Given the description of an element on the screen output the (x, y) to click on. 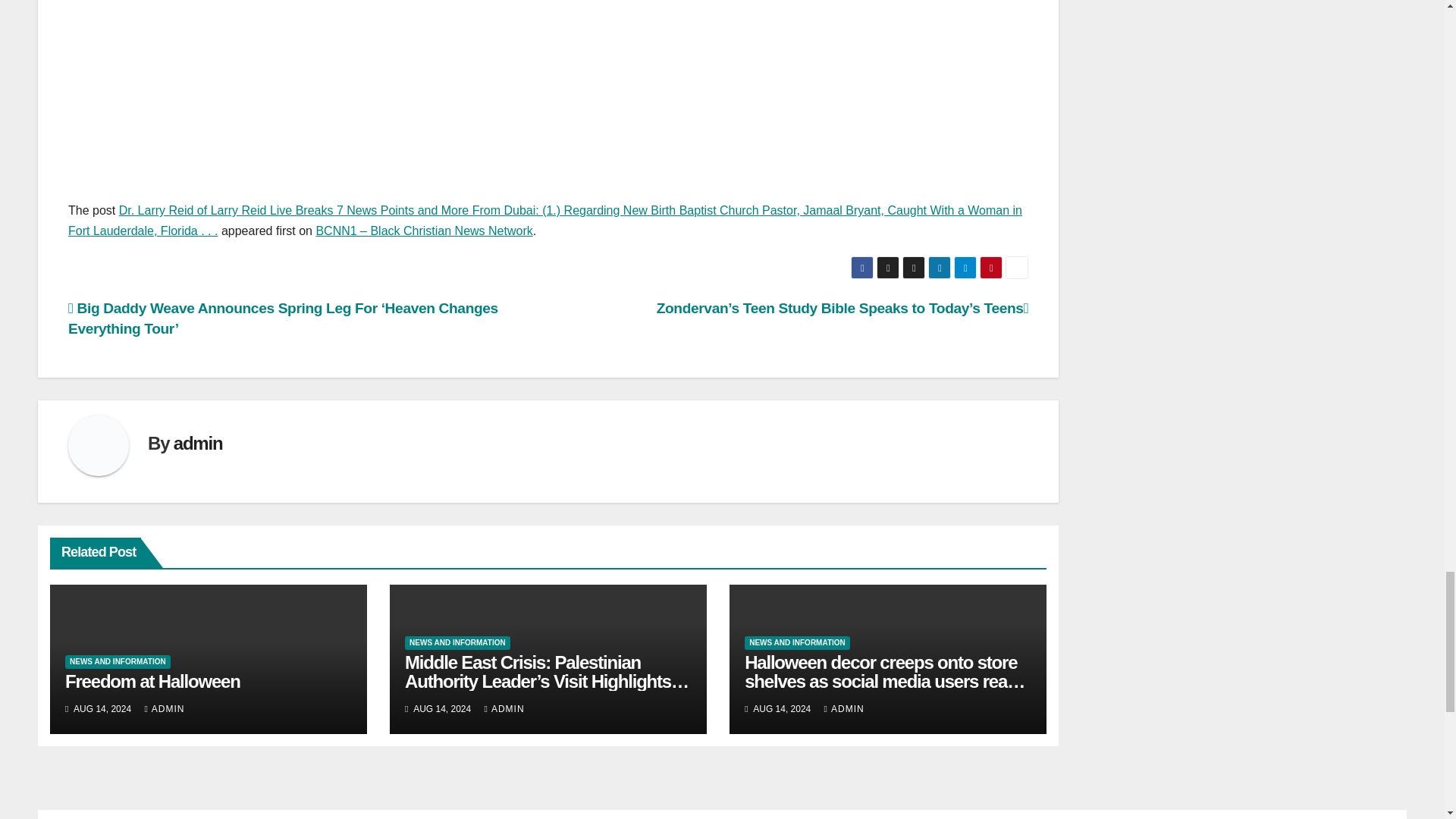
Permalink to: Freedom at Halloween (152, 680)
ADMIN (164, 708)
Freedom at Halloween (152, 680)
YouTube video player (280, 70)
admin (197, 443)
NEWS AND INFORMATION (117, 662)
